Given the description of an element on the screen output the (x, y) to click on. 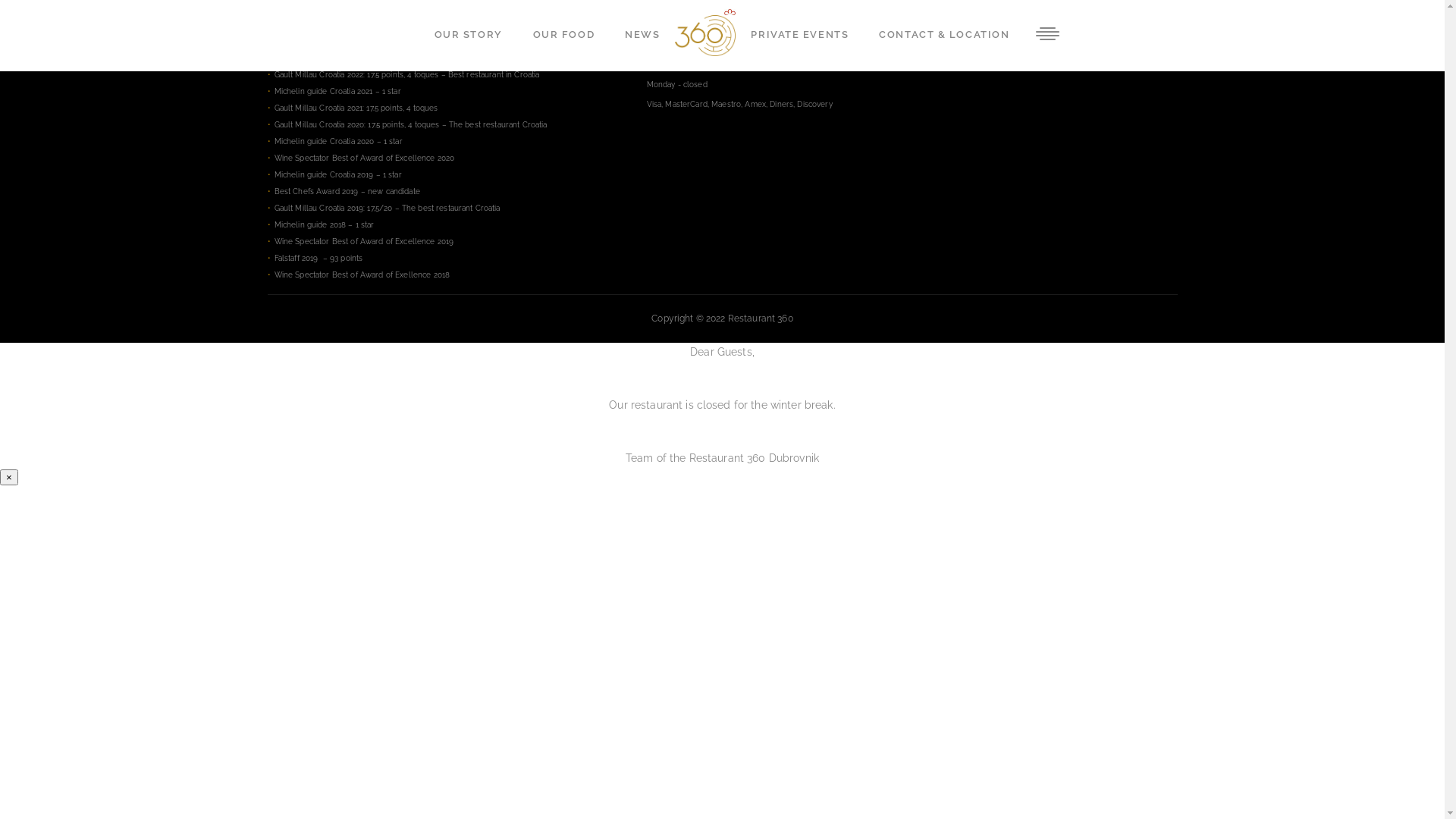
Visa, MasterCard, Maestro, Amex, Diners, Discovery Element type: text (768, 103)
PRIVATE EVENTS Element type: text (799, 35)
NEWS Element type: text (641, 35)
reservations@360dubrovnik.com Element type: text (768, 24)
Tue - Sun 18.30 - 22.30 Element type: text (768, 64)
CONTACT & LOCATION Element type: text (943, 35)
OUR STORY Element type: text (468, 35)
OUR FOOD Element type: text (563, 35)
Monday - closed Element type: text (768, 84)
Press Element type: text (768, 44)
